Given the description of an element on the screen output the (x, y) to click on. 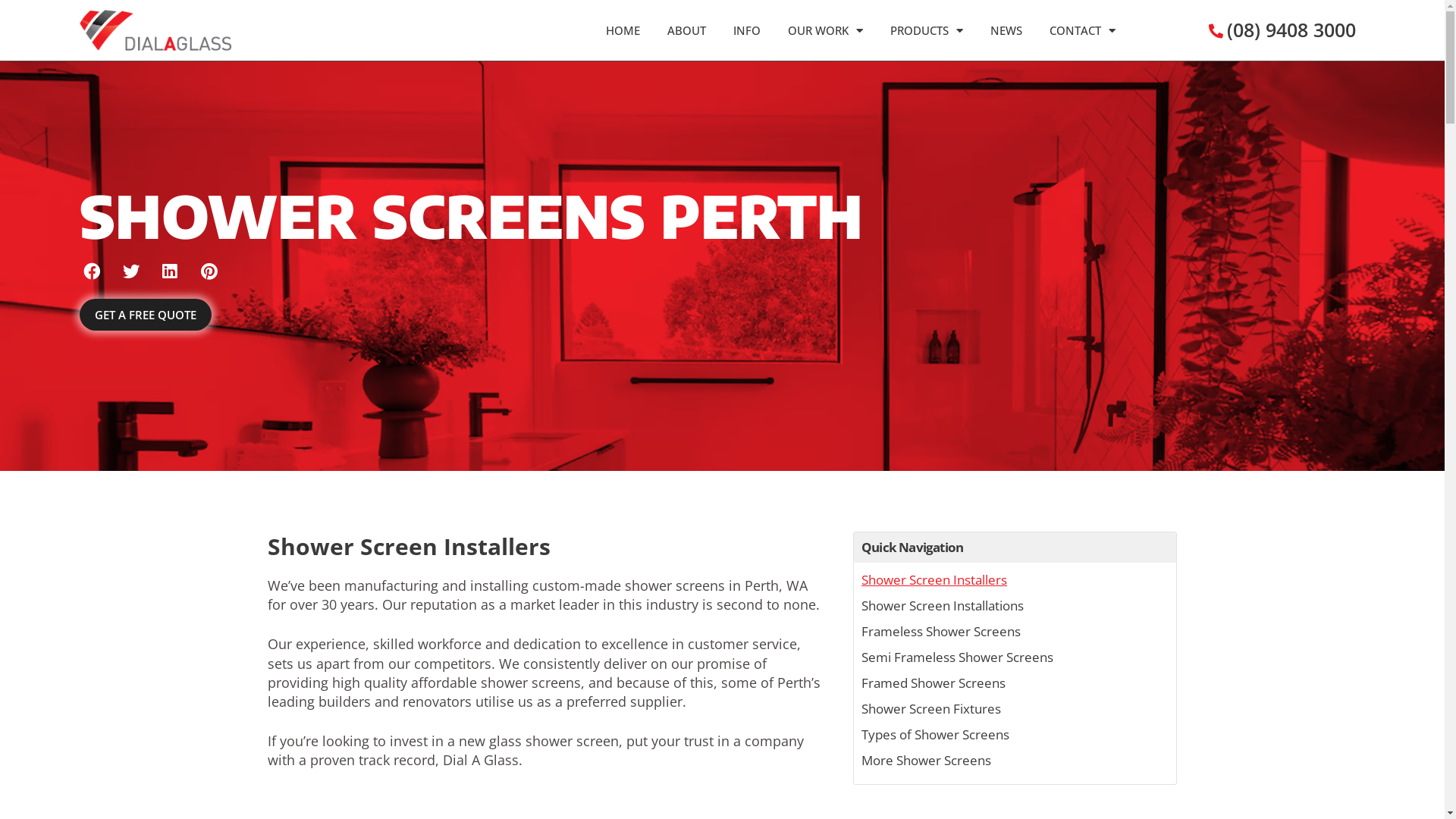
OUR WORK Element type: text (825, 30)
Shower Screen Installations Element type: text (942, 605)
Semi Frameless Shower Screens Element type: text (957, 657)
Shower Screen Fixtures Element type: text (931, 708)
HOME Element type: text (622, 30)
Frameless Shower Screens Element type: text (940, 631)
PRODUCTS Element type: text (926, 30)
CONTACT Element type: text (1082, 30)
NEWS Element type: text (1005, 30)
INFO Element type: text (746, 30)
Framed Shower Screens Element type: text (933, 683)
ABOUT Element type: text (686, 30)
More Shower Screens Element type: text (926, 760)
GET A FREE QUOTE Element type: text (145, 314)
Shower Screen Installers Element type: text (934, 579)
Types of Shower Screens Element type: text (935, 734)
